Given the description of an element on the screen output the (x, y) to click on. 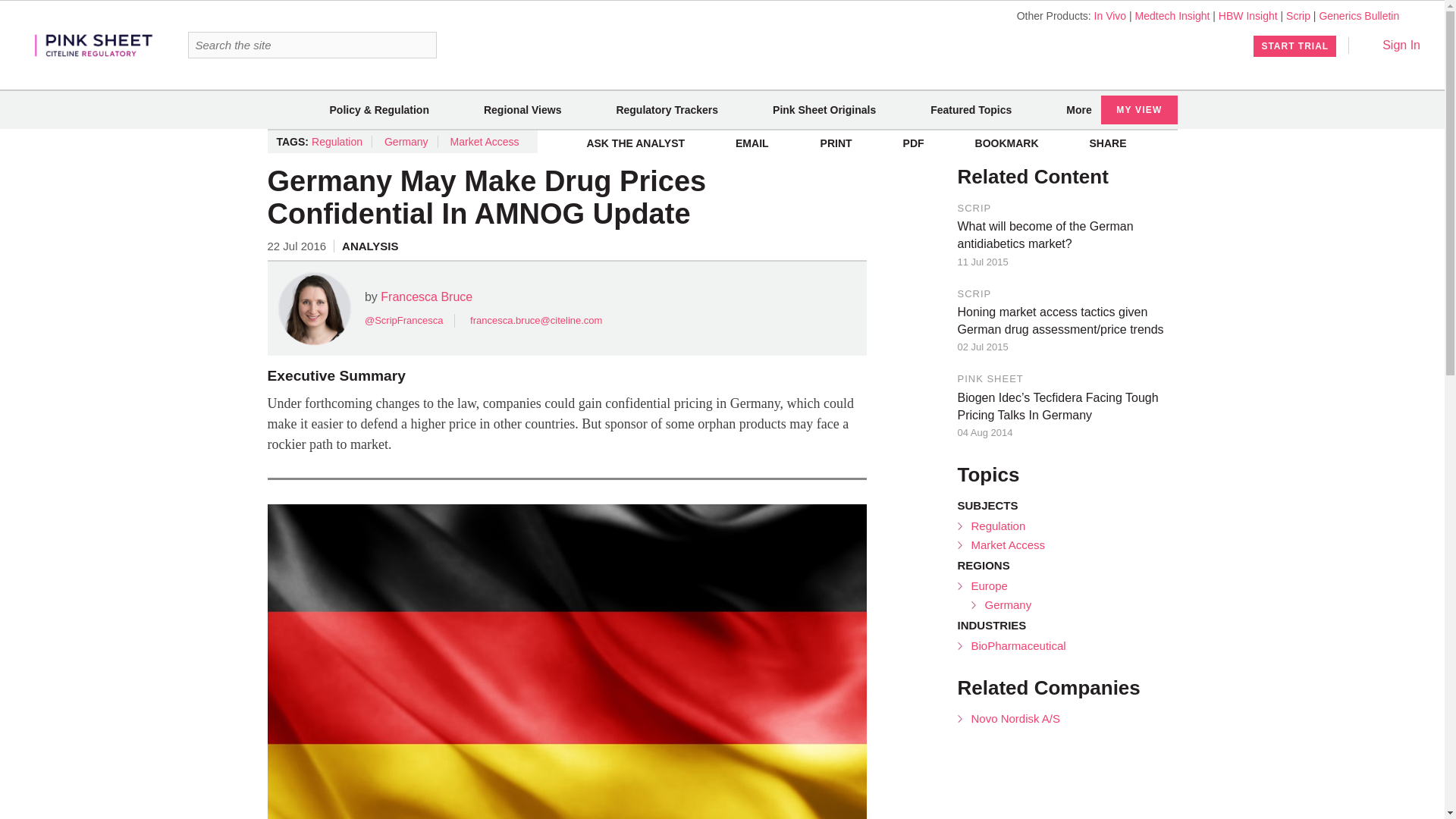
Medtech Insight (1172, 15)
Scrip (1297, 15)
In Vivo (1110, 15)
START TRIAL (1294, 46)
Generics Bulletin (1359, 15)
HBW Insight (1248, 15)
Sign In (1391, 44)
